Given the description of an element on the screen output the (x, y) to click on. 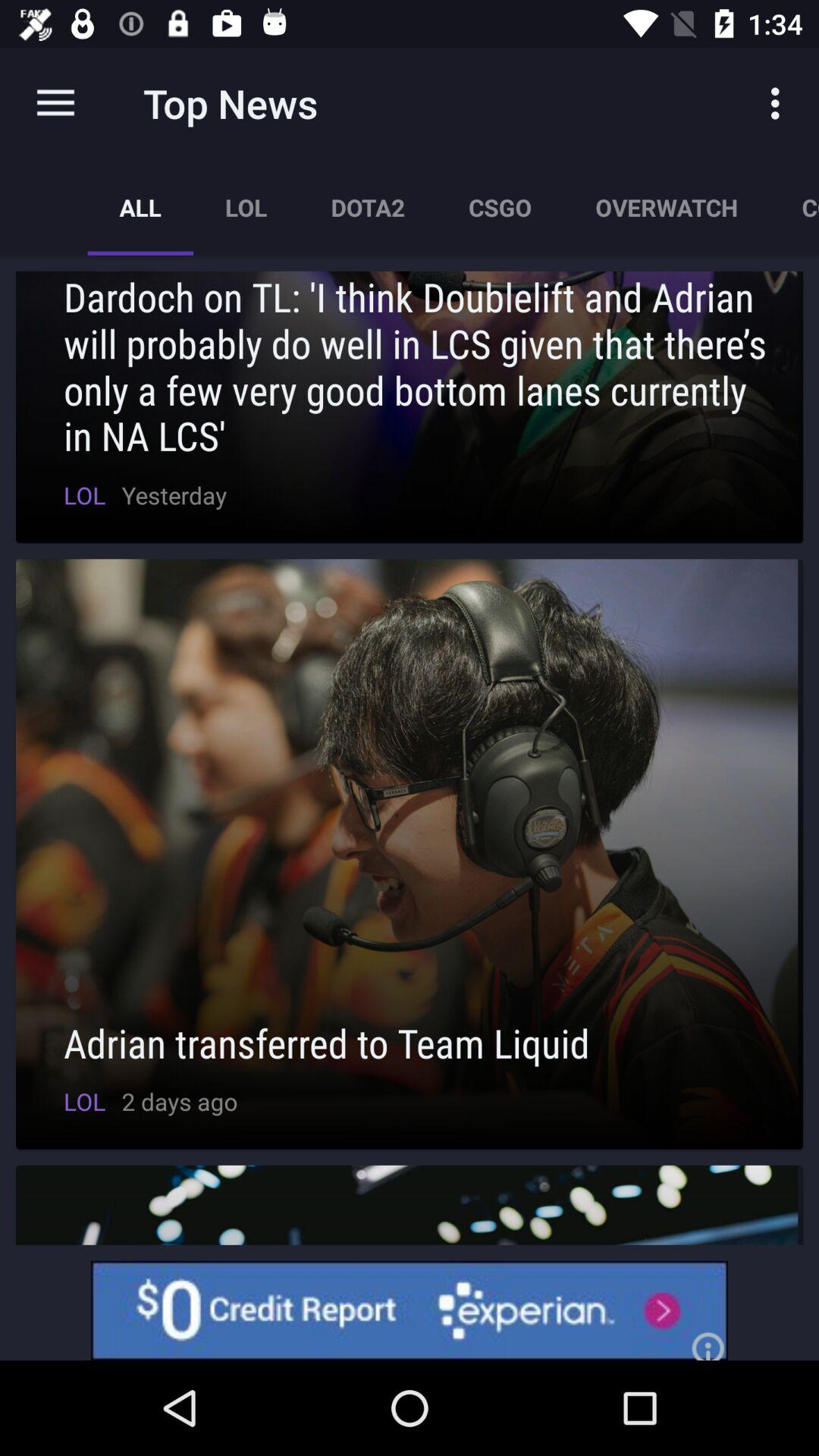
credit report option (409, 1310)
